Given the description of an element on the screen output the (x, y) to click on. 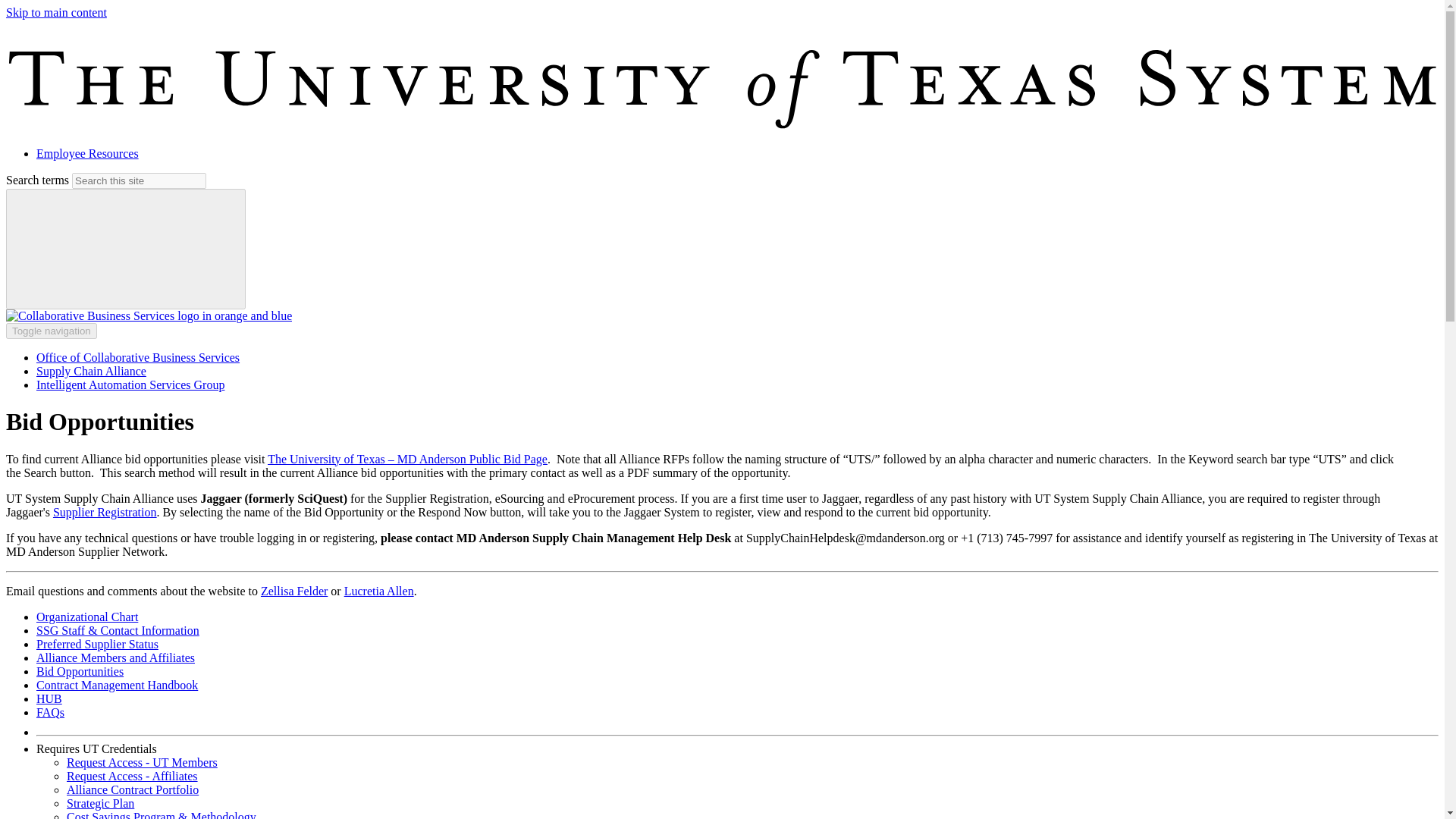
UNDER CONSTRUCTION (50, 712)
Supplier Registration (103, 512)
FAQs (50, 712)
Search icon (125, 249)
Strategic Plan (99, 802)
Supply Chain Alliance (91, 370)
Organizational Chart (87, 616)
Alliance Contract Portfolio (132, 789)
Request Access - UT Members (141, 762)
Office of Collaborative Business Services (138, 357)
HUB (49, 698)
Employee Resources (87, 153)
Intelligent Automation Services Group (130, 384)
Preferred Supplier Status (97, 644)
Contract Management Handbook (117, 684)
